Given the description of an element on the screen output the (x, y) to click on. 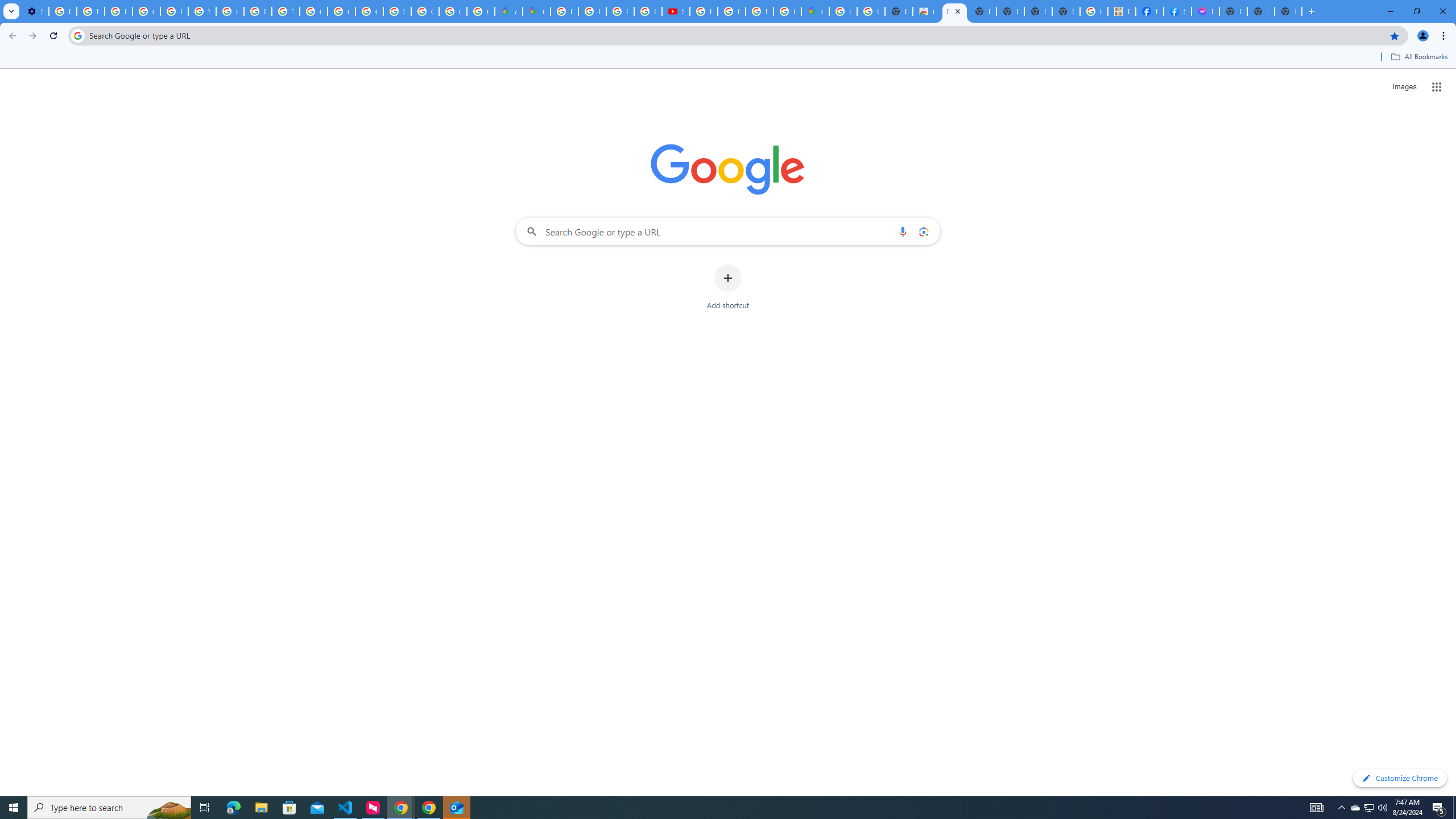
Chrome Web Store (926, 11)
Google Maps (536, 11)
Search Google or type a URL (727, 230)
Privacy Help Center - Policies Help (174, 11)
Add shortcut (727, 287)
MILEY CYRUS. (1121, 11)
Miley Cyrus | Facebook (1150, 11)
